Given the description of an element on the screen output the (x, y) to click on. 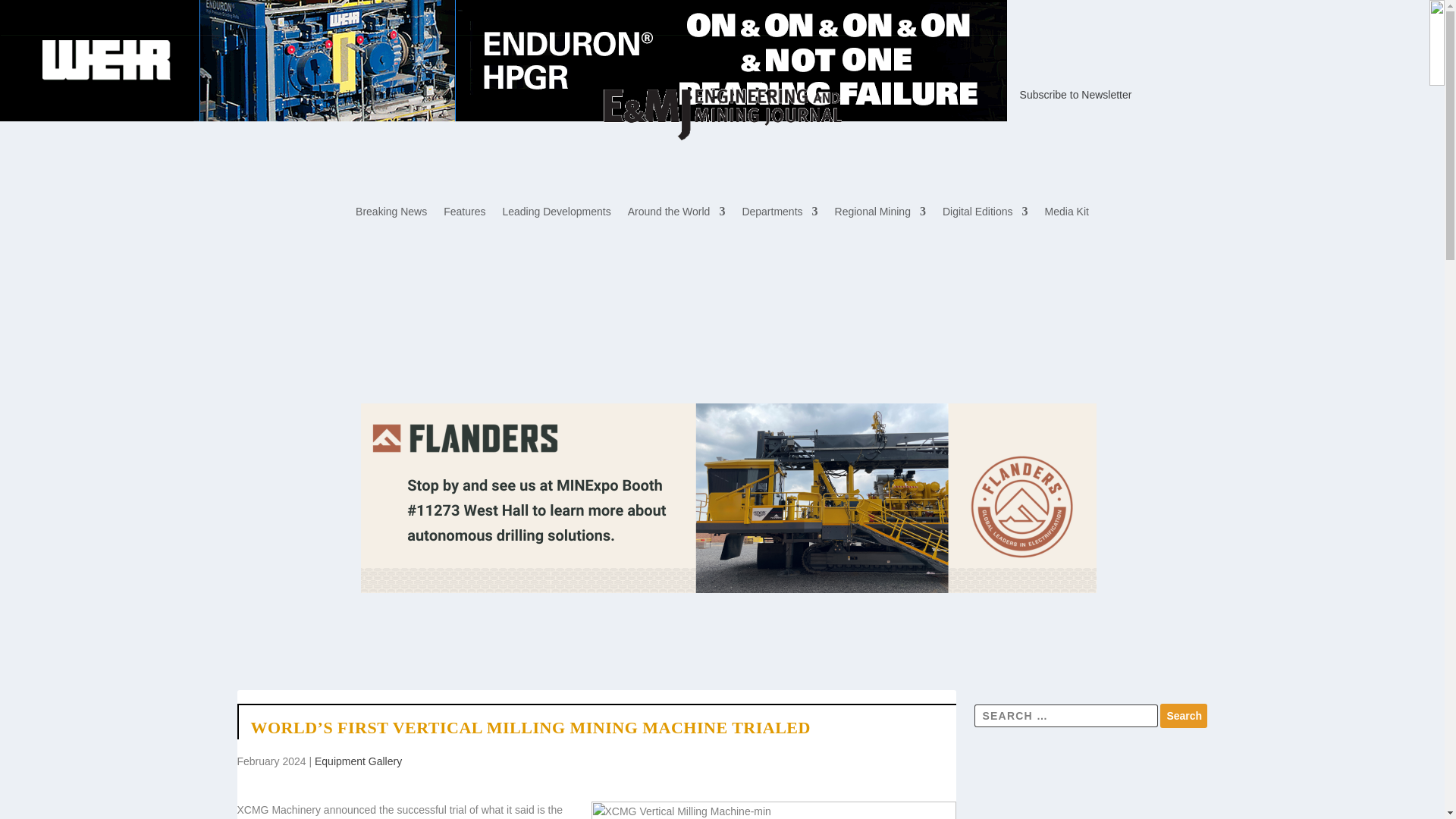
Departments (778, 214)
Subscribe to Print (354, 94)
Media Kit (1067, 214)
YouTube video player (1090, 782)
Leading Developments (556, 214)
Search (1183, 715)
Breaking News (390, 214)
Features (464, 214)
Subscribe to Newsletter (1076, 94)
Equipment Gallery (357, 761)
Search (1183, 715)
Digital Editions (984, 214)
Regional Mining (880, 214)
Around the World (676, 214)
